Given the description of an element on the screen output the (x, y) to click on. 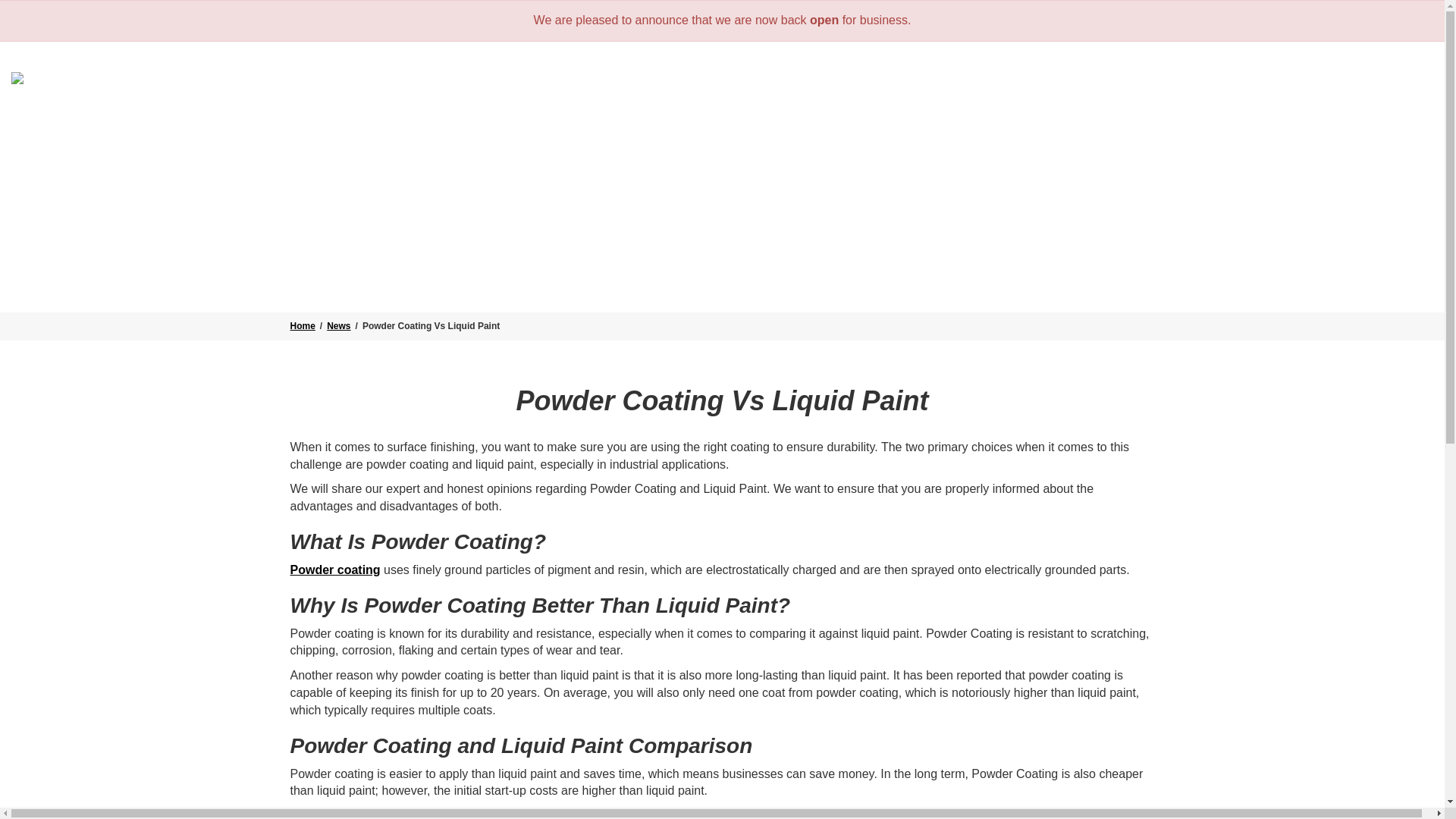
Grit Blasting (761, 108)
Home (678, 108)
Contact (1390, 108)
Powder Coating (876, 108)
In House (1184, 108)
Powder Coating (876, 108)
News (1330, 108)
Projects (1262, 108)
Grit Blasting (761, 108)
In House (1184, 108)
